Given the description of an element on the screen output the (x, y) to click on. 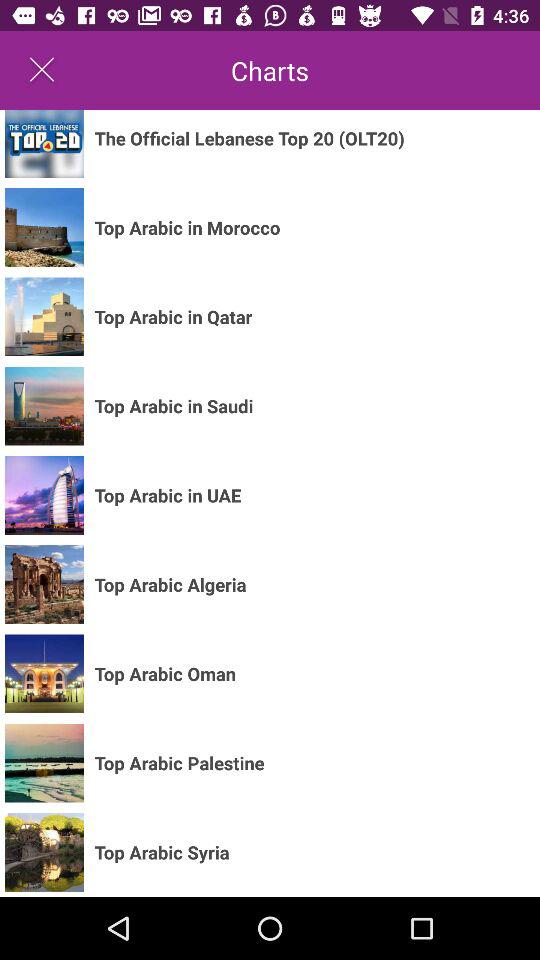
exit (42, 70)
